Given the description of an element on the screen output the (x, y) to click on. 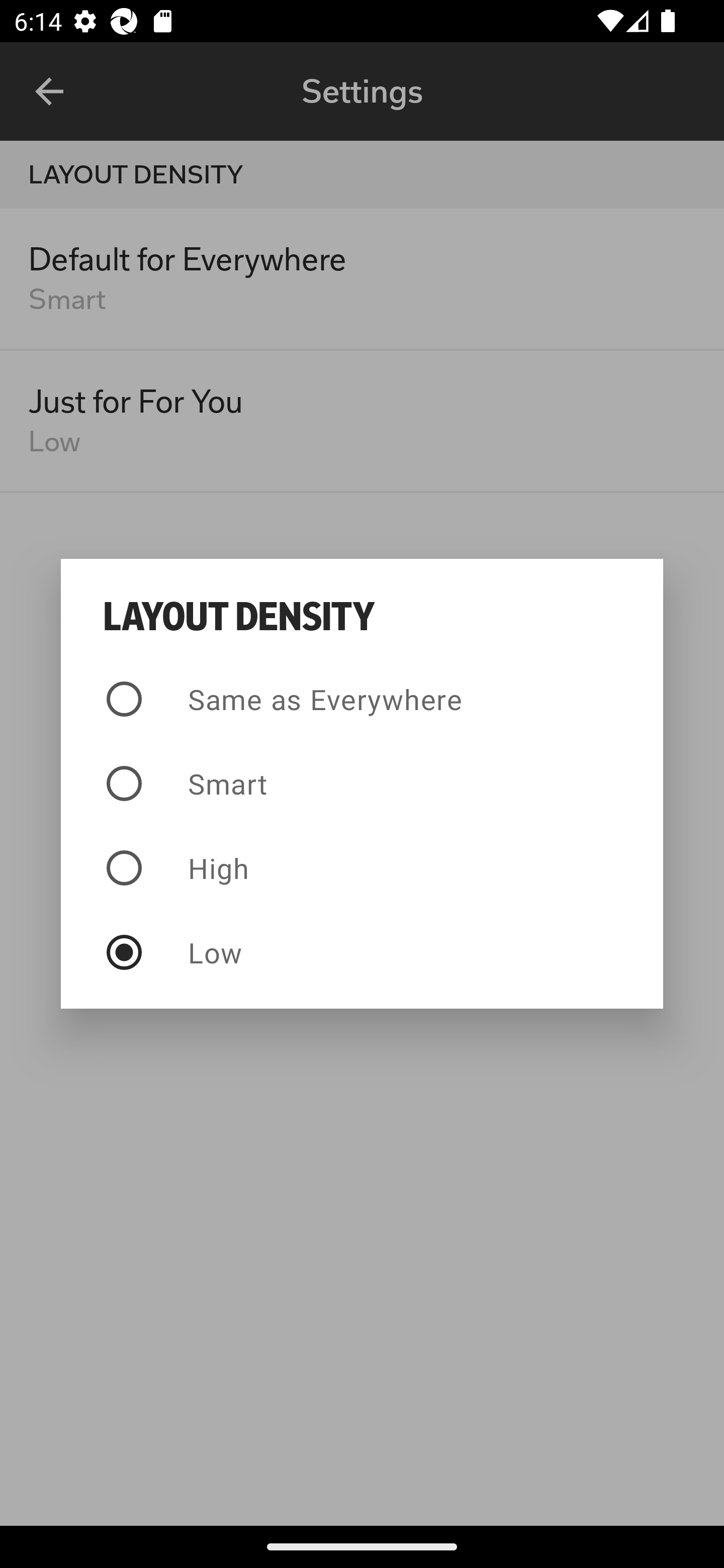
Same as Everywhere (361, 698)
Smart (361, 783)
High (361, 867)
Low (361, 951)
